Given the description of an element on the screen output the (x, y) to click on. 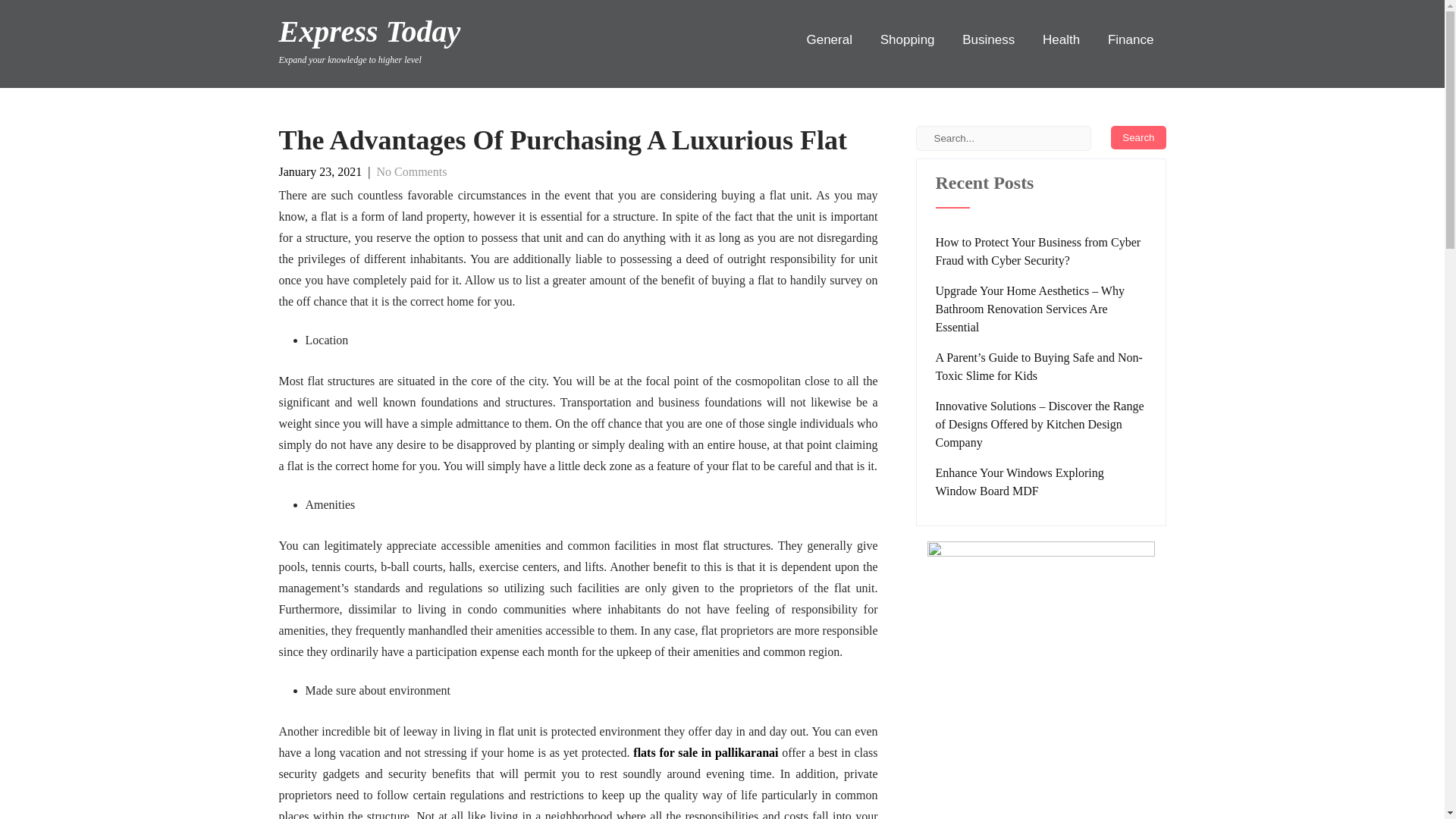
Enhance Your Windows Exploring Window Board MDF (1041, 482)
Search (1138, 137)
Finance (1131, 39)
flats for sale in pallikaranai (705, 752)
Search (1138, 137)
General (828, 39)
Health (1061, 39)
Business (988, 39)
Search (370, 45)
No Comments (1138, 137)
Shopping (410, 171)
